Given the description of an element on the screen output the (x, y) to click on. 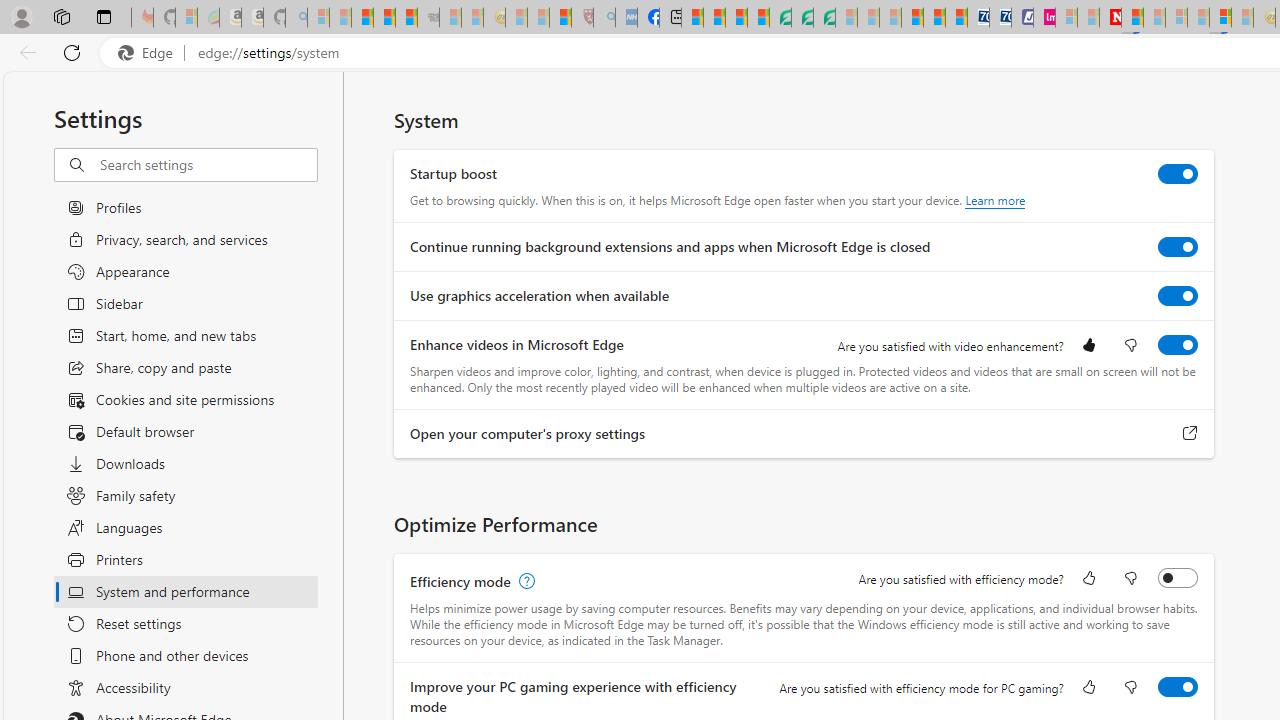
Recipes - MSN - Sleeping (516, 17)
Jobs - lastminute.com Investor Portal (1044, 17)
Enhance videos in Microsoft Edge (1178, 344)
Local - MSN (560, 17)
Combat Siege (428, 17)
NCL Adult Asthma Inhaler Choice Guideline - Sleeping (626, 17)
Open your computer's proxy settings (1190, 434)
New tab (670, 17)
Use graphics acceleration when available (1178, 295)
New Report Confirms 2023 Was Record Hot | Watch (406, 17)
